Given the description of an element on the screen output the (x, y) to click on. 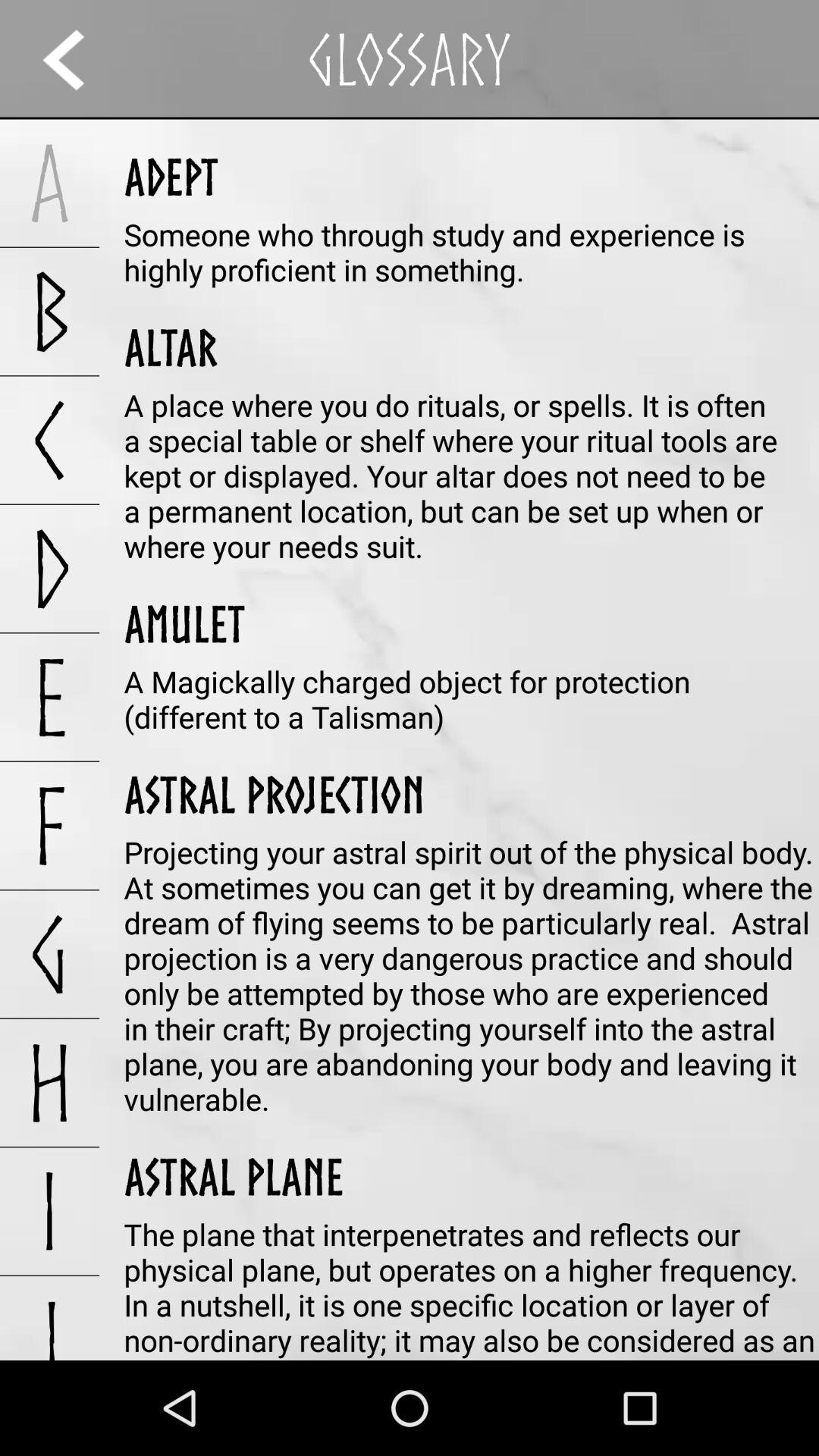
jump until the projecting your astral icon (471, 975)
